Given the description of an element on the screen output the (x, y) to click on. 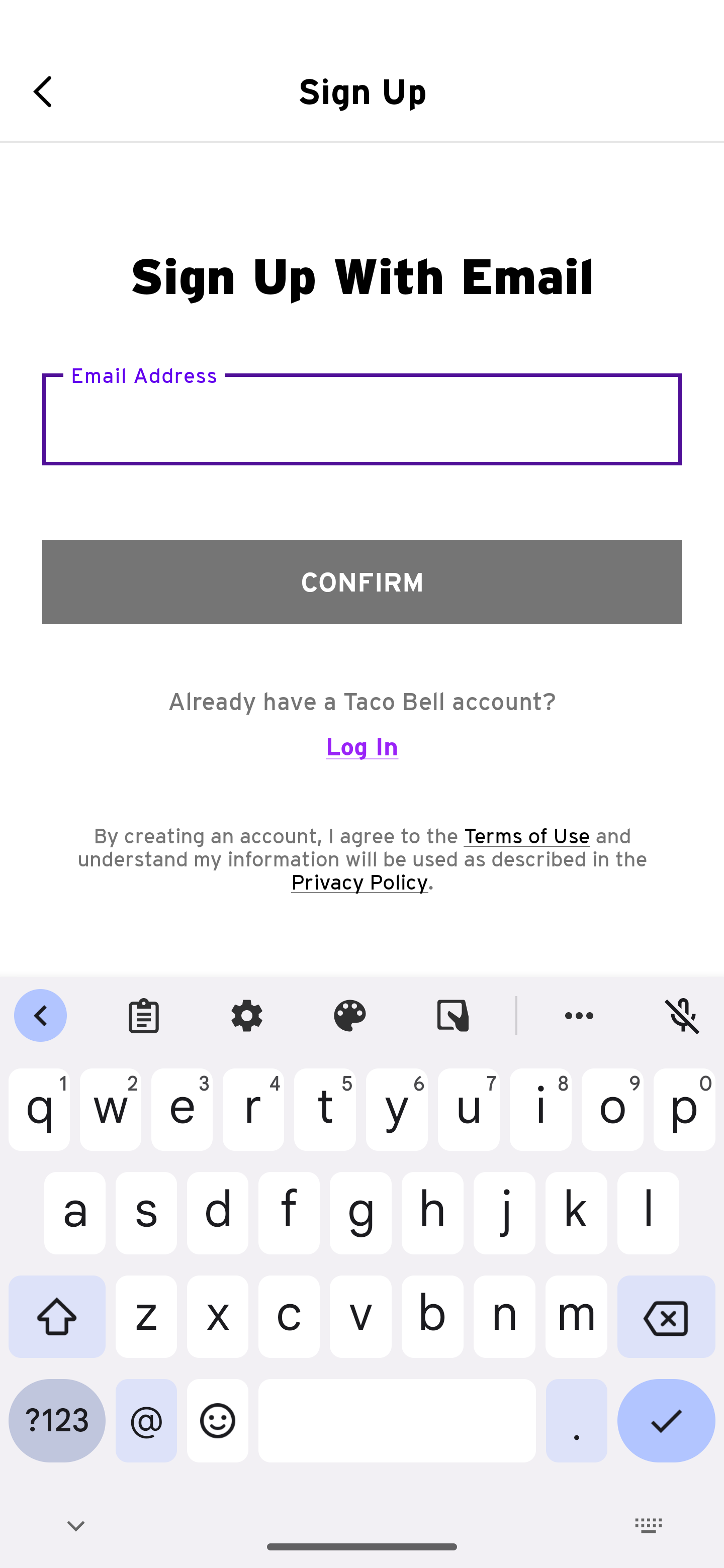
Navigate up (49, 91)
Email Address (361, 419)
CONFIRM (361, 581)
Log In (361, 754)
